Given the description of an element on the screen output the (x, y) to click on. 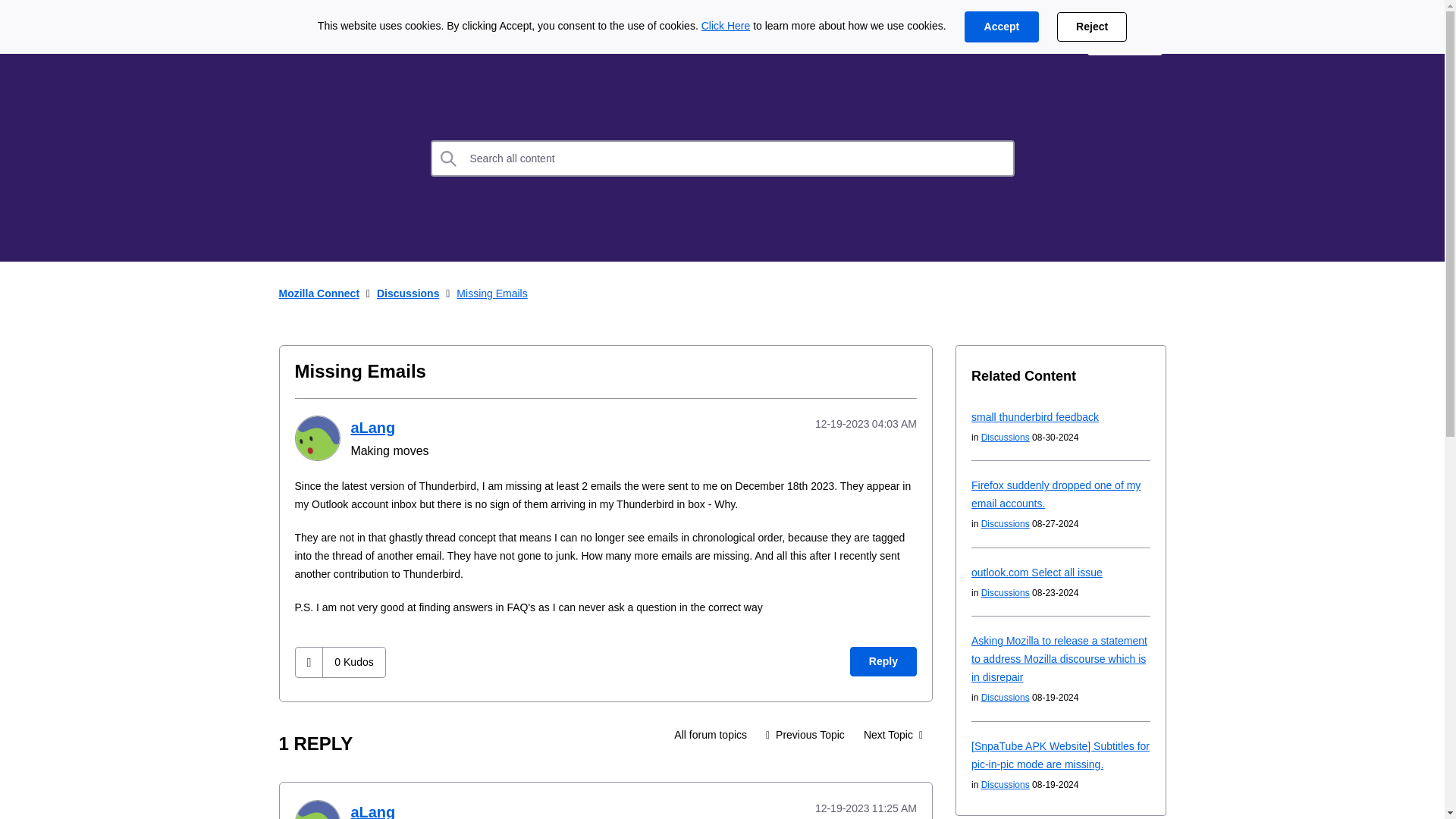
Previous Topic (804, 734)
Discussions (500, 39)
Click Here (726, 25)
Reject (1091, 26)
Search (448, 158)
Reply (883, 661)
Mozilla Connect (324, 39)
Sign In (1124, 39)
aLang (372, 427)
Click here to give kudos to this post. (309, 662)
